Given the description of an element on the screen output the (x, y) to click on. 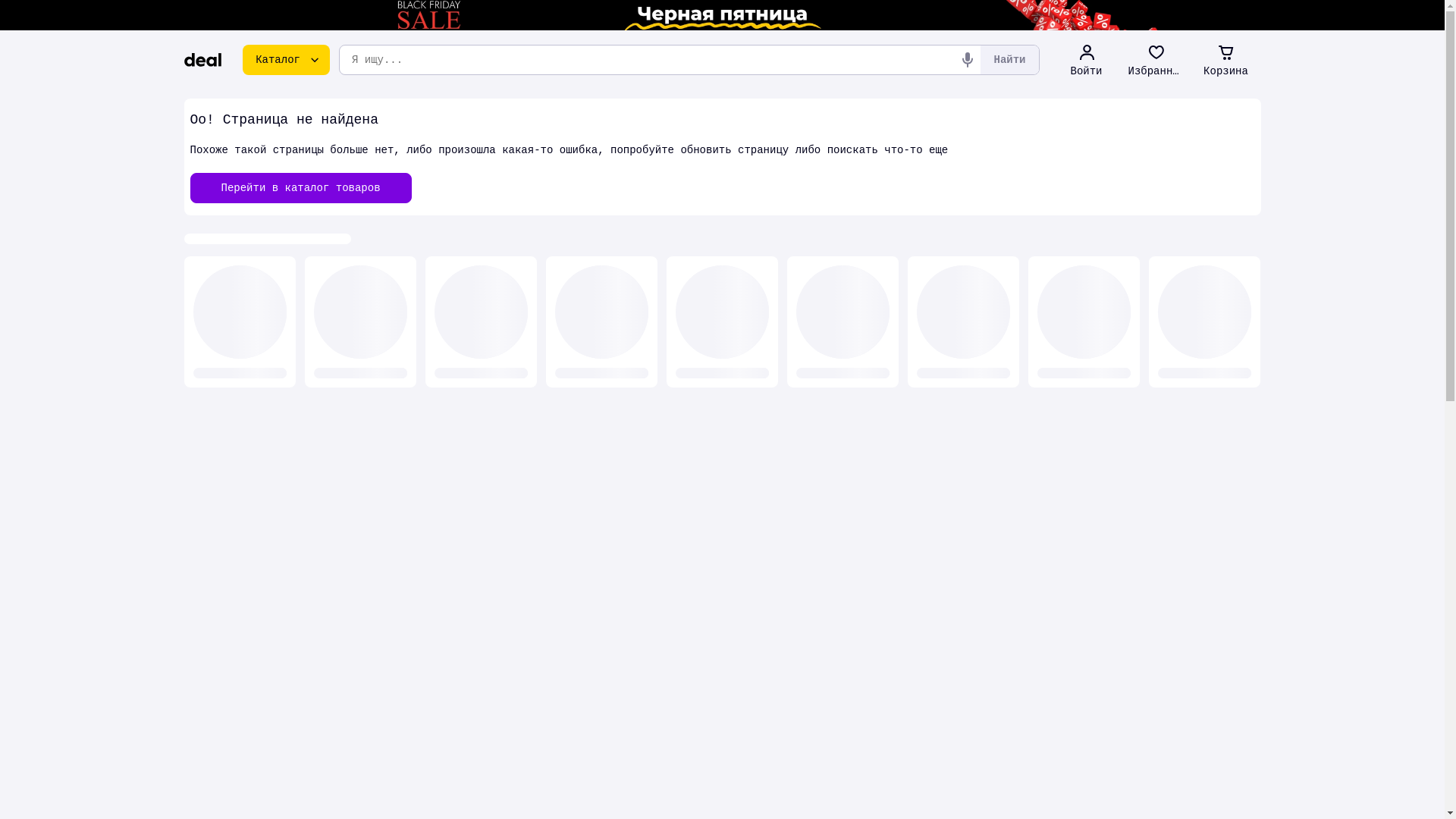
deal.by Element type: hover (202, 59)
